Given the description of an element on the screen output the (x, y) to click on. 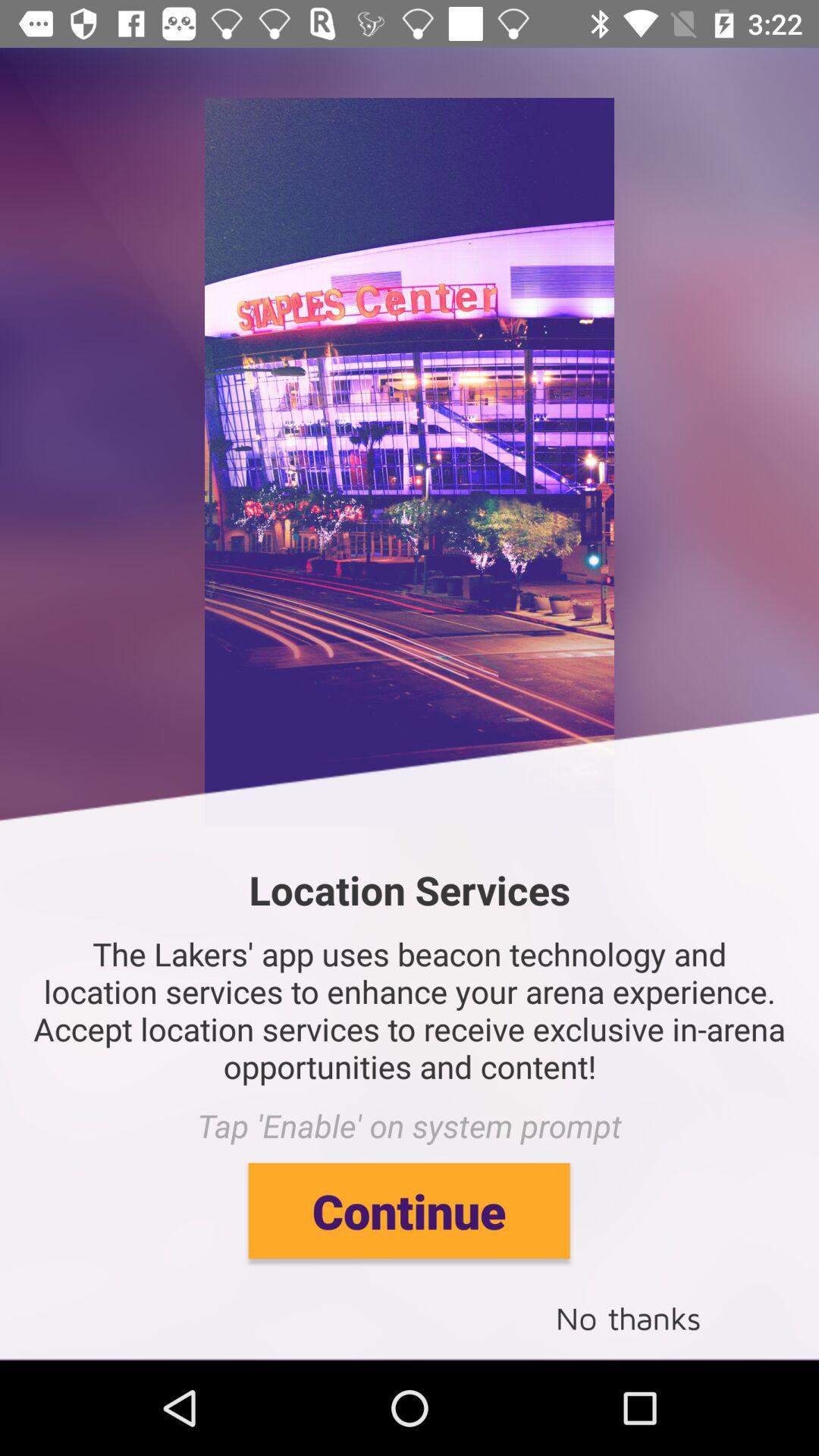
select item below tap enable on icon (408, 1210)
